Given the description of an element on the screen output the (x, y) to click on. 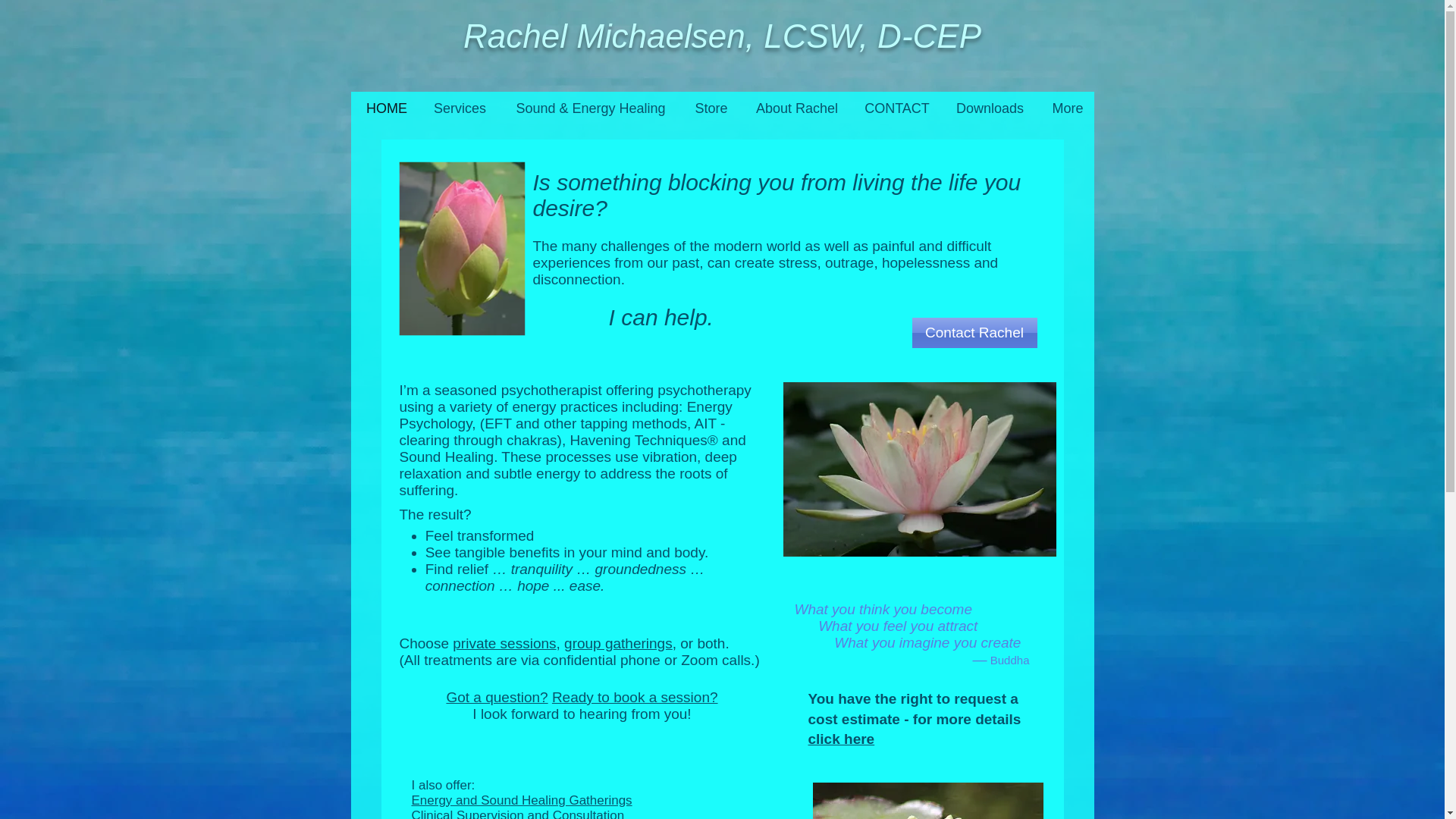
Clinical Supervision and Consultation (517, 813)
private sessions (504, 643)
Store (711, 108)
group gatherings (618, 643)
click here (841, 738)
CONTACT (895, 108)
Got a question? (496, 697)
Energy and Sound Healing Gatherings (520, 800)
About Rachel (797, 108)
Downloads (990, 108)
Ready to book a session? (634, 697)
HOME (386, 108)
Contact Rachel (973, 332)
